Given the description of an element on the screen output the (x, y) to click on. 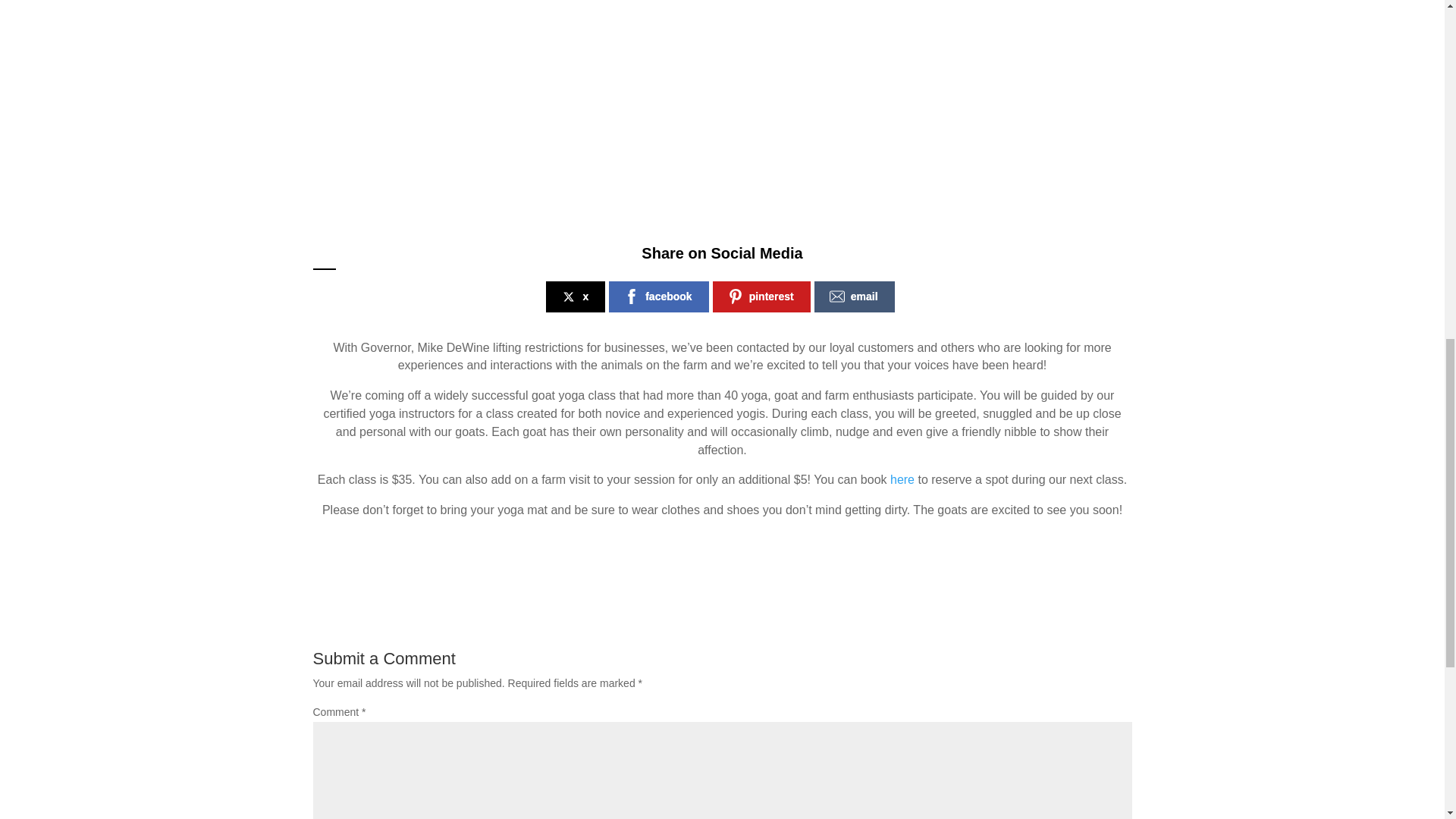
pinterest (761, 296)
email (854, 296)
x (575, 296)
here (901, 479)
facebook (657, 296)
